Given the description of an element on the screen output the (x, y) to click on. 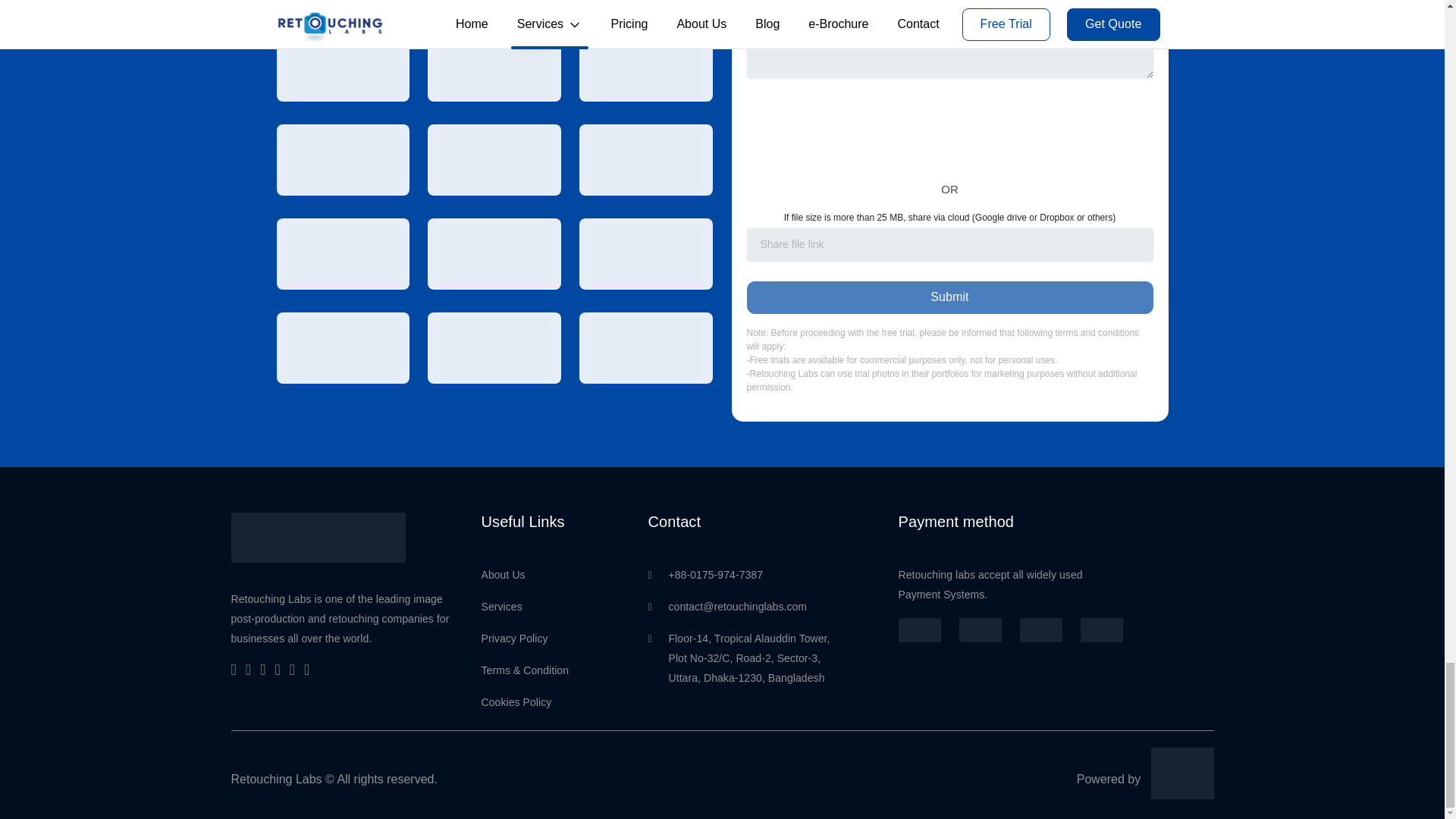
Submit (949, 296)
